Given the description of an element on the screen output the (x, y) to click on. 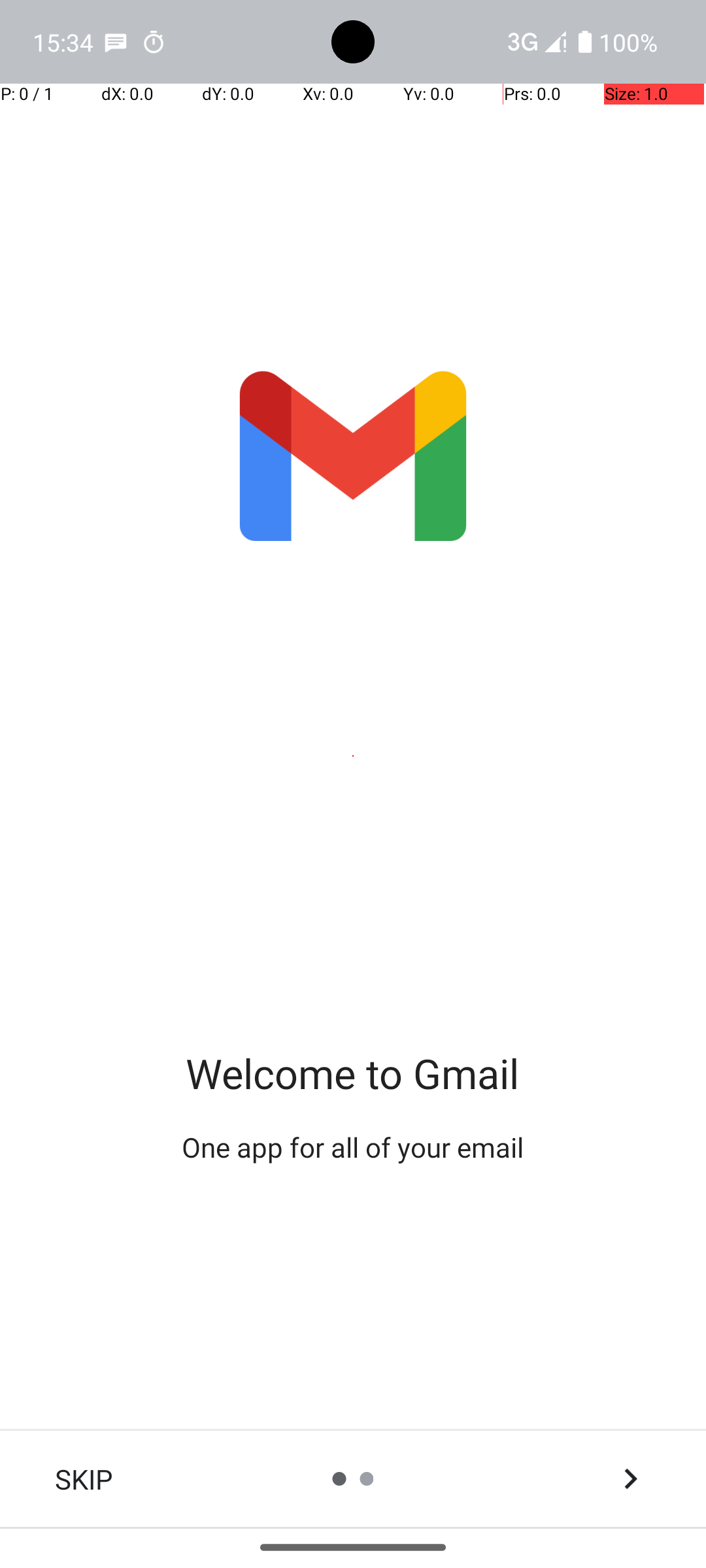
SKIP Element type: android.widget.TextView (83, 1478)
Welcome to Gmail Element type: android.widget.TextView (352, 1072)
One app for all of your email Element type: android.widget.TextView (352, 1146)
